Given the description of an element on the screen output the (x, y) to click on. 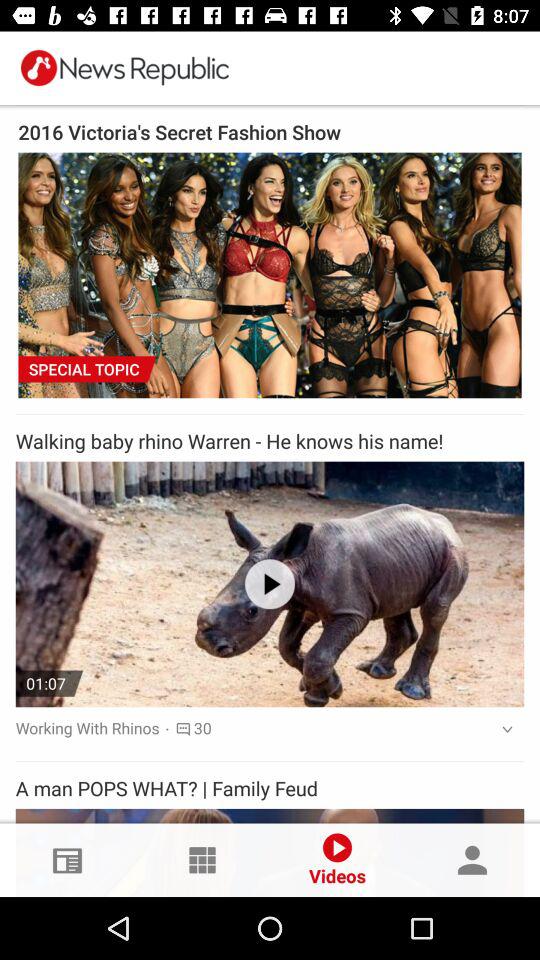
select the first picture (269, 275)
select the play icon in the first video (269, 583)
click on the profile option in the bottom right (472, 859)
tap the drop down button just below the second video (500, 730)
